Given the description of an element on the screen output the (x, y) to click on. 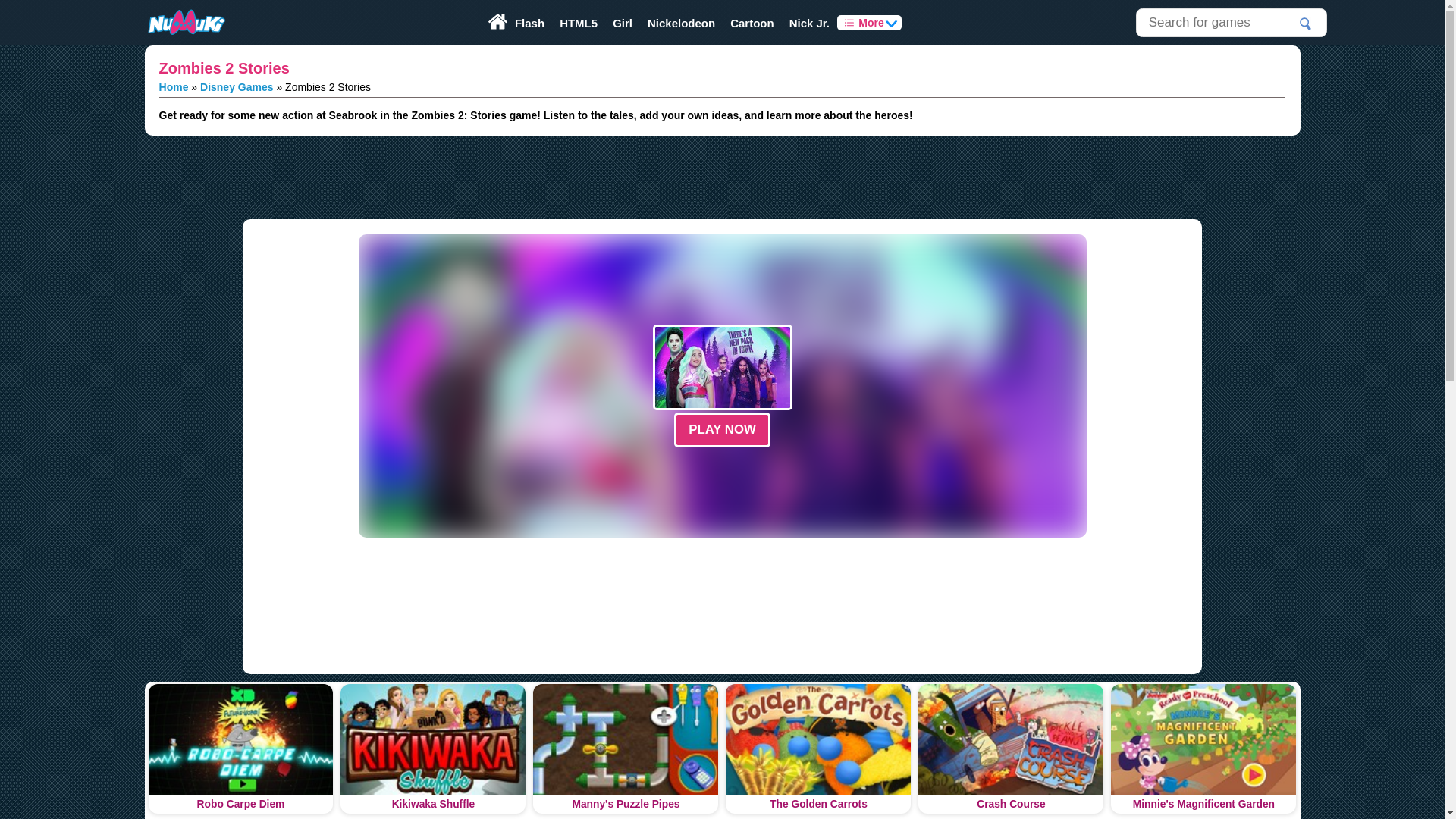
Girl Games (622, 22)
Nickelodeon Games (681, 22)
Nick Jr. Games (809, 22)
More (869, 22)
Nick Jr. (809, 22)
Cartoon Games (751, 22)
Robo Carpe Diem (240, 748)
Play Fun Browser Games (185, 22)
HTML5 (578, 22)
Disney Games (236, 87)
